Given the description of an element on the screen output the (x, y) to click on. 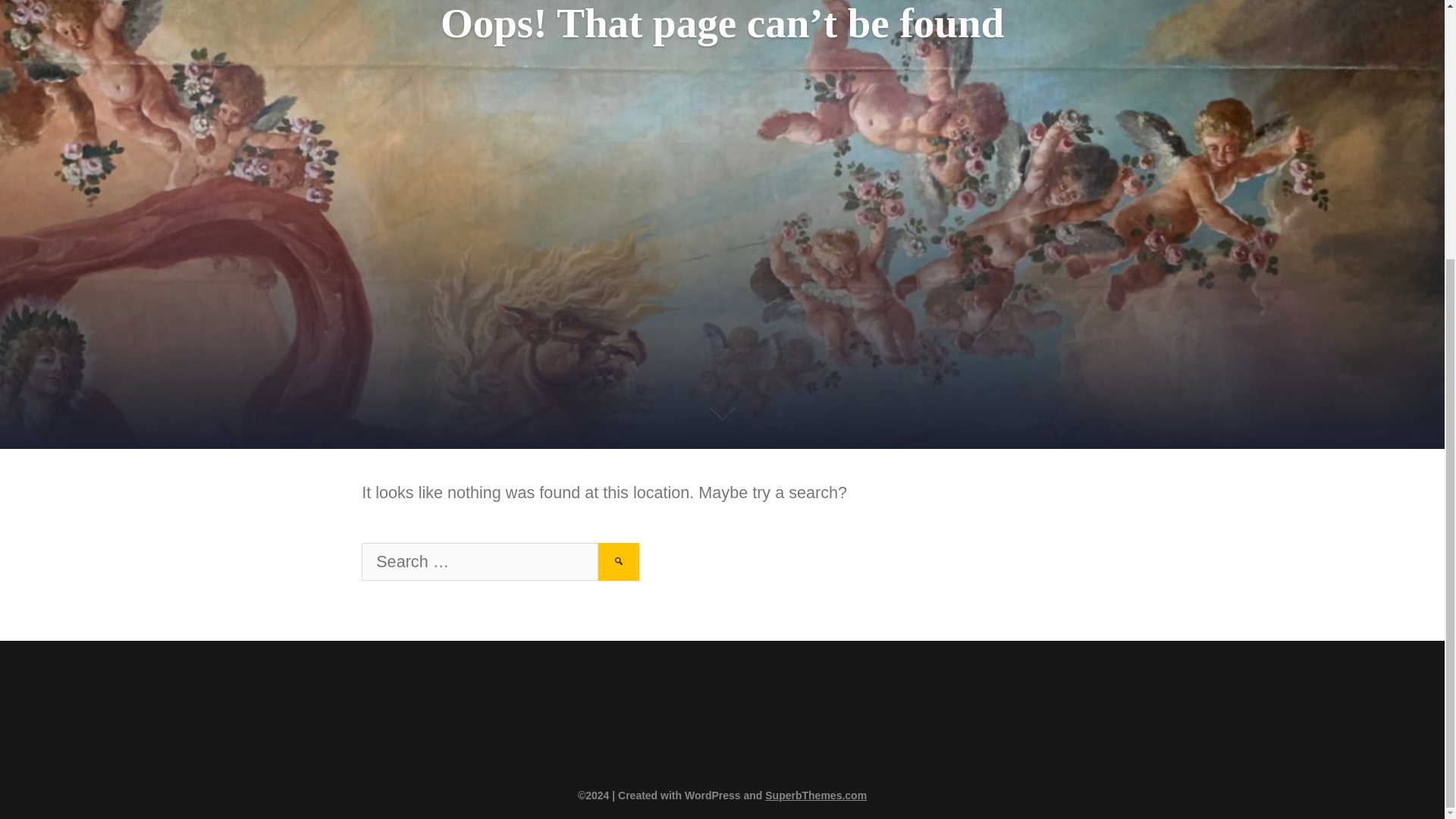
SuperbThemes.com (815, 795)
